Given the description of an element on the screen output the (x, y) to click on. 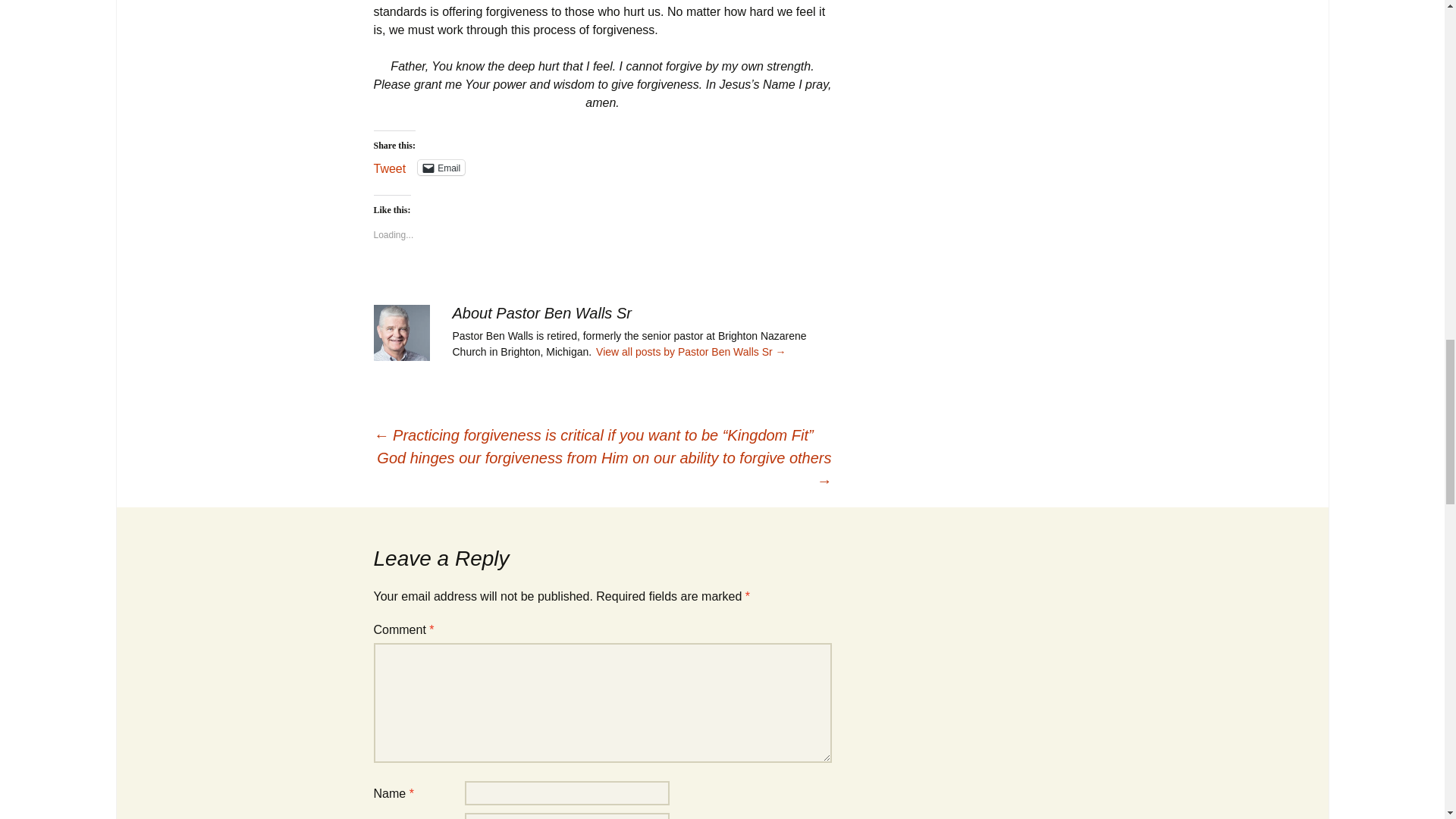
Click to email a link to a friend (440, 167)
Email (440, 167)
Tweet (389, 166)
